Given the description of an element on the screen output the (x, y) to click on. 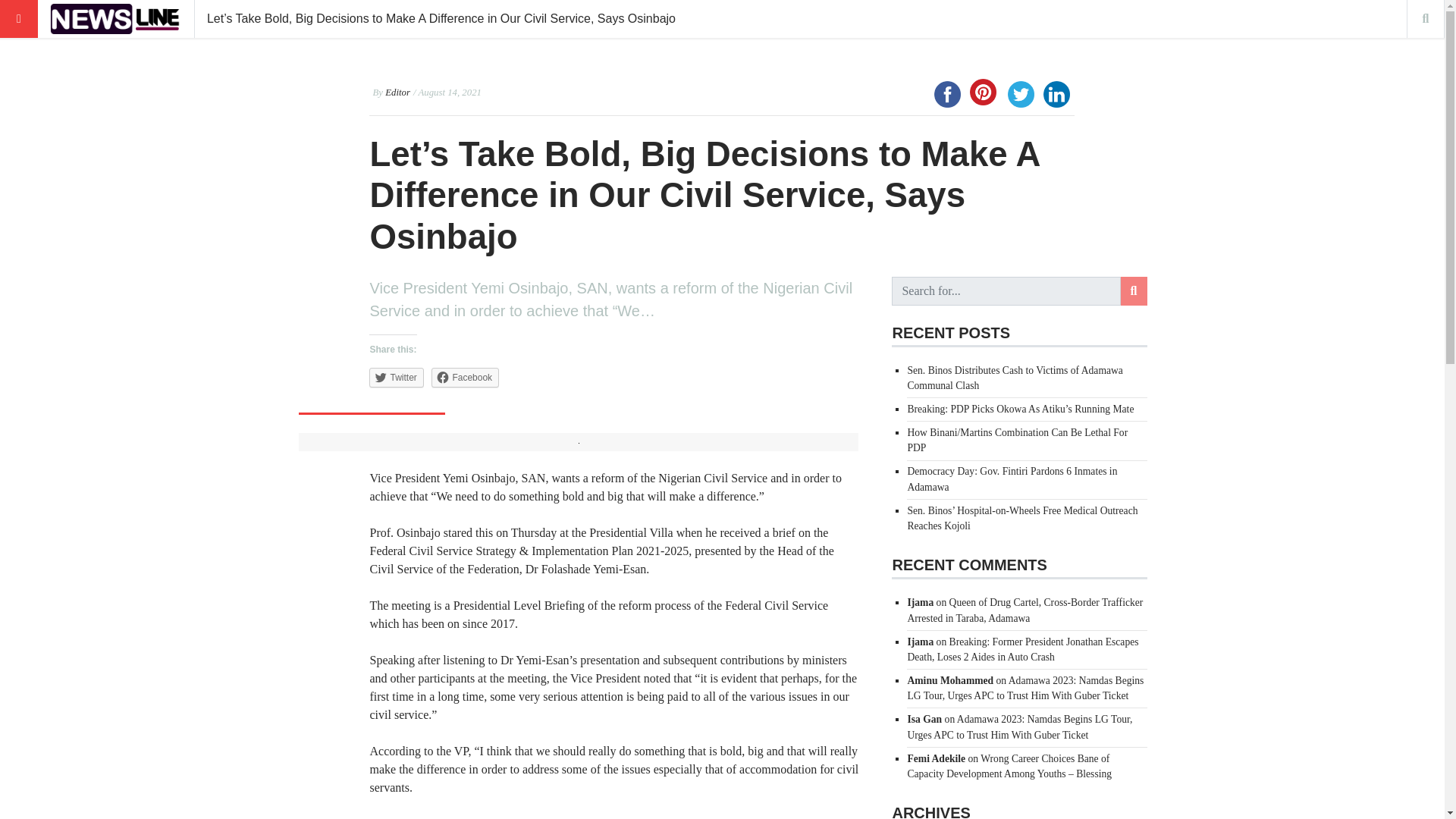
Click to share on Twitter (396, 377)
Democracy Day: Gov. Fintiri Pardons 6 Inmates in Adamawa (1011, 479)
Twitter (396, 377)
Editor (397, 91)
Twitter (1021, 94)
Posts by Editor (397, 91)
Click to share on Facebook (464, 377)
LinkedIn (1056, 94)
Pinterest (983, 91)
Facebook (947, 94)
